Given the description of an element on the screen output the (x, y) to click on. 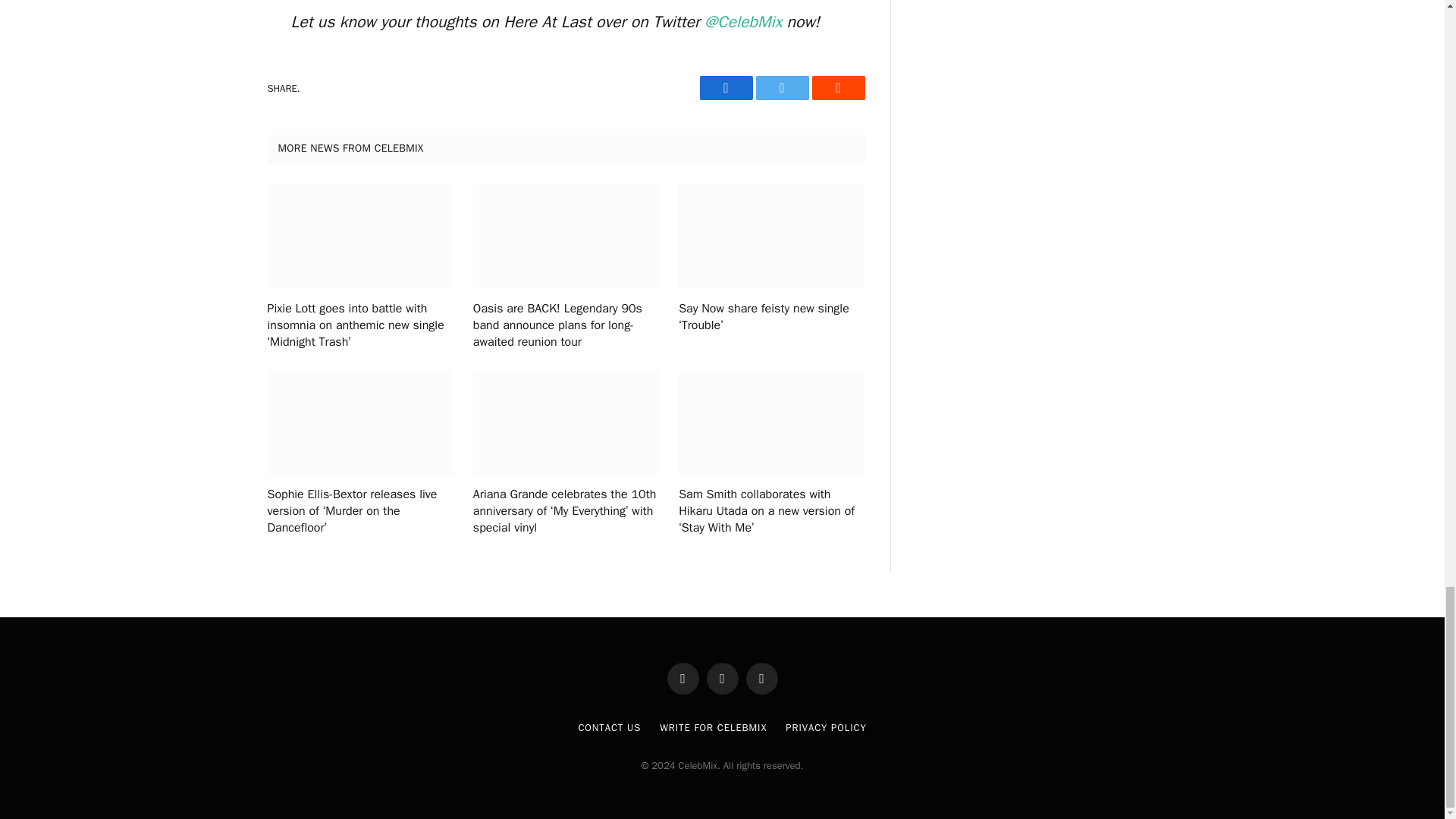
Reddit (837, 87)
Twitter (781, 87)
Facebook (725, 87)
